Given the description of an element on the screen output the (x, y) to click on. 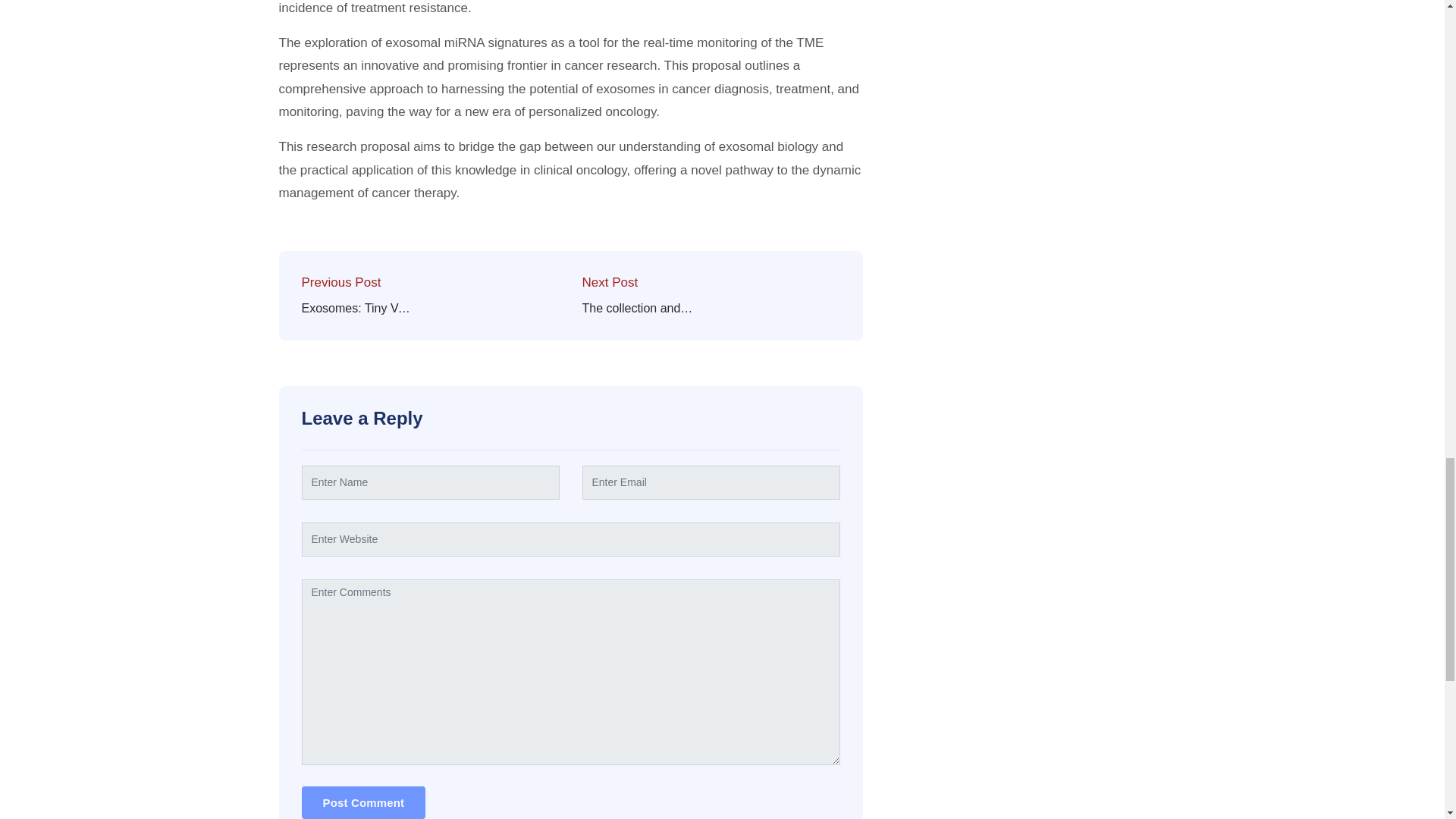
Post Comment (363, 802)
Post Comment (363, 802)
The collection and analysis of exosomes (638, 308)
